Given the description of an element on the screen output the (x, y) to click on. 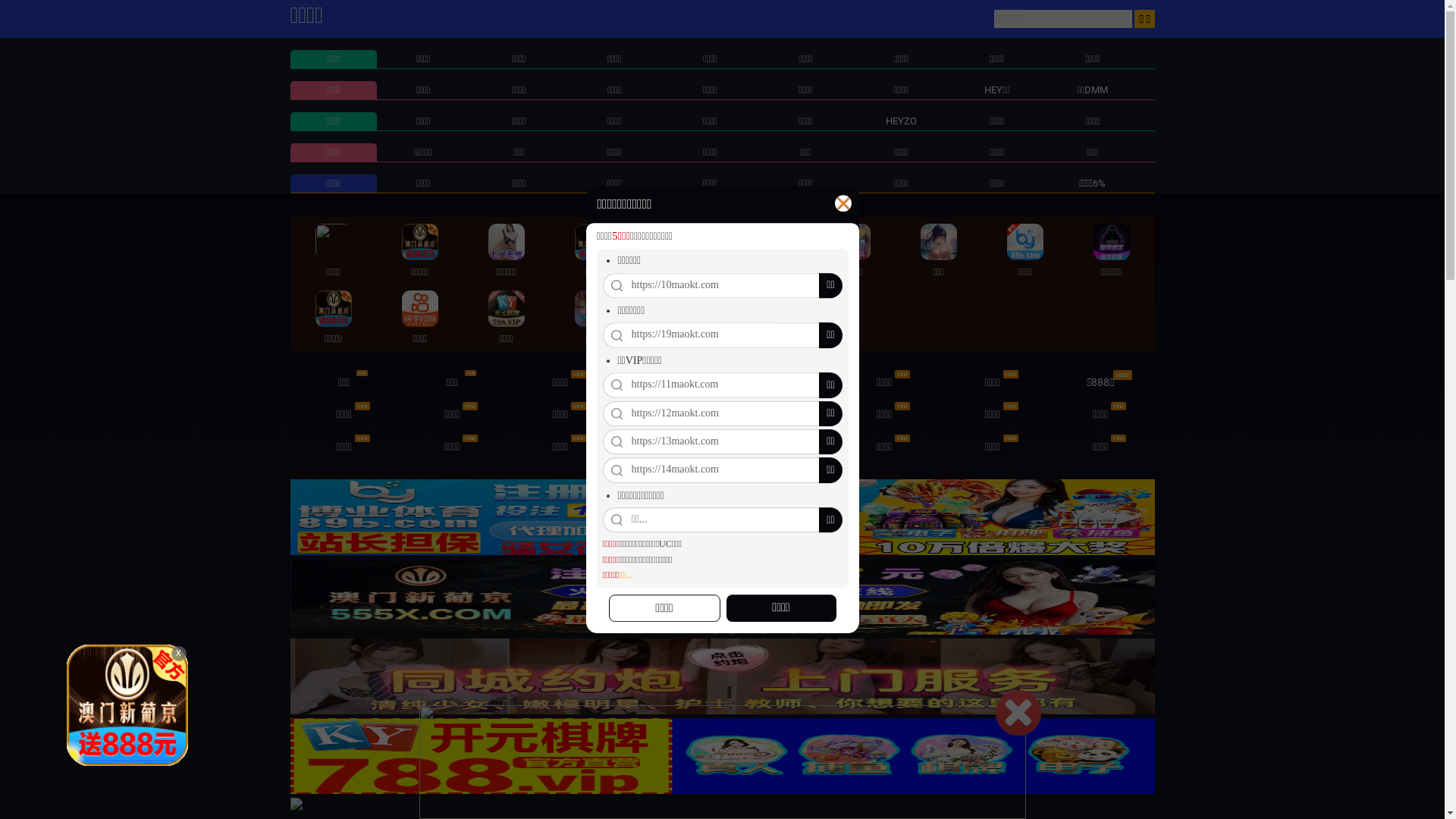
HEYZO Element type: text (900, 120)
